Given the description of an element on the screen output the (x, y) to click on. 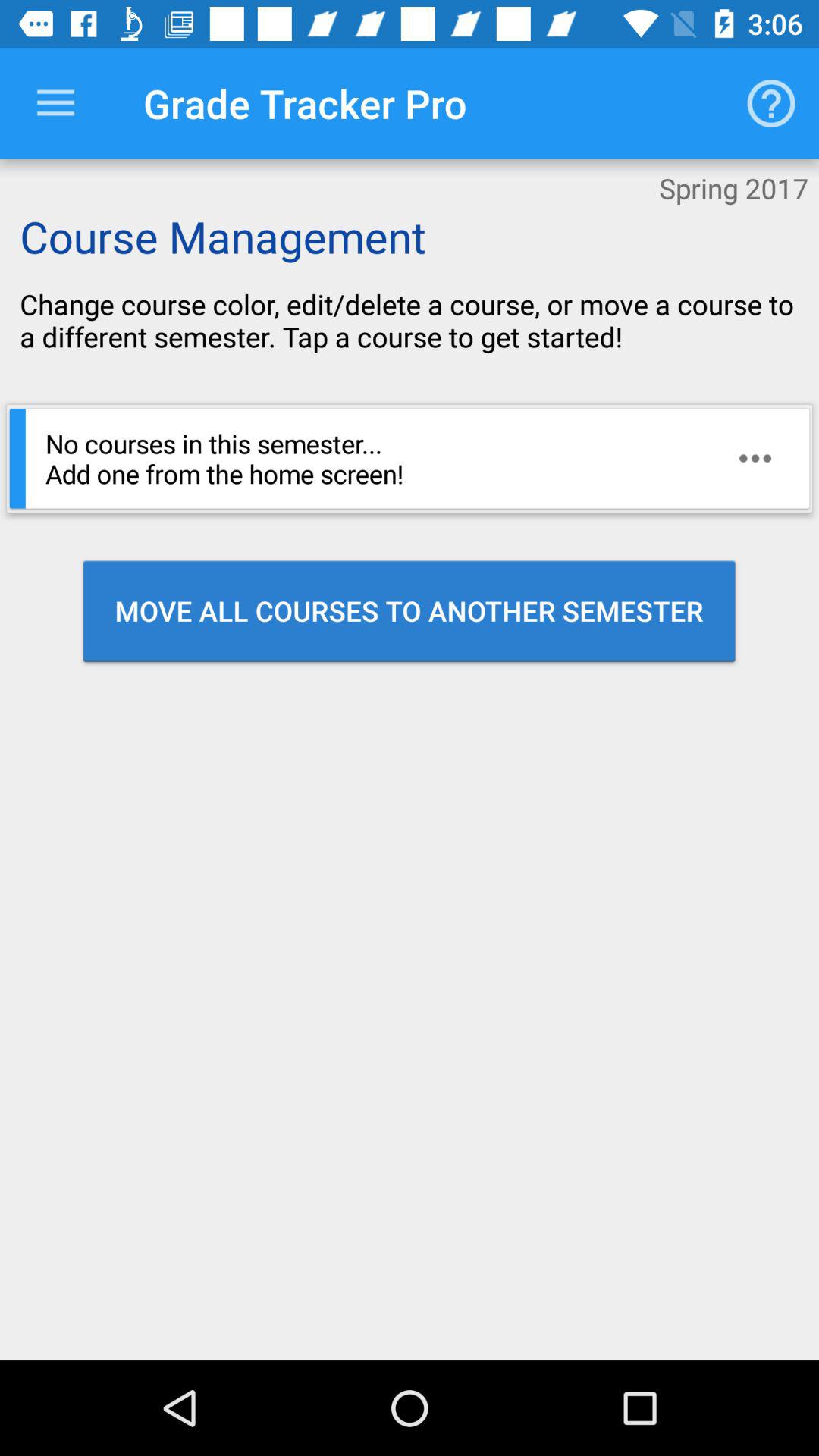
drop down selection menu (55, 103)
